Given the description of an element on the screen output the (x, y) to click on. 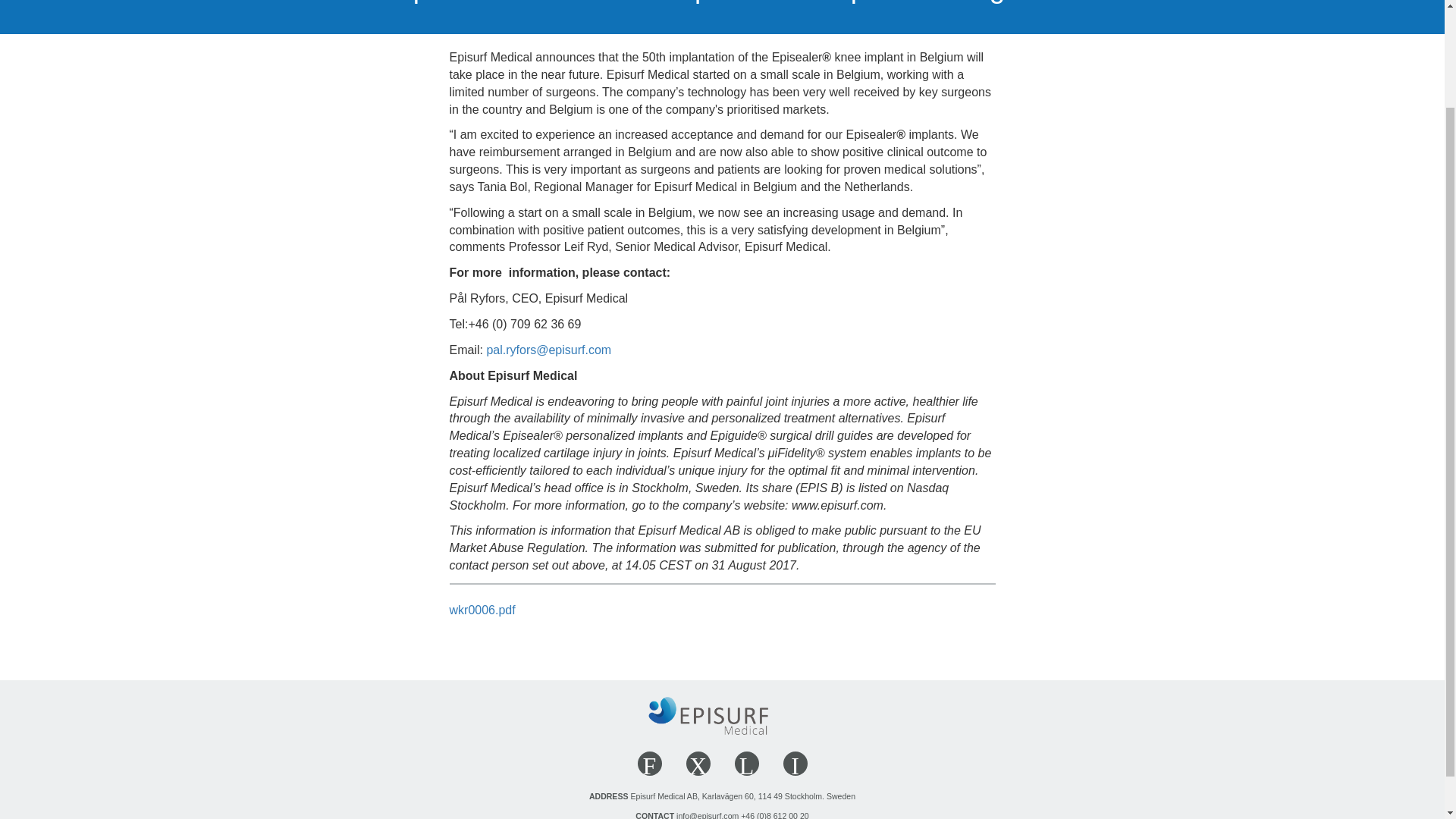
YouTube (697, 763)
Facebook (649, 763)
LinkedIn (794, 763)
wkr0006.pdf (481, 618)
Twitter (745, 763)
